Given the description of an element on the screen output the (x, y) to click on. 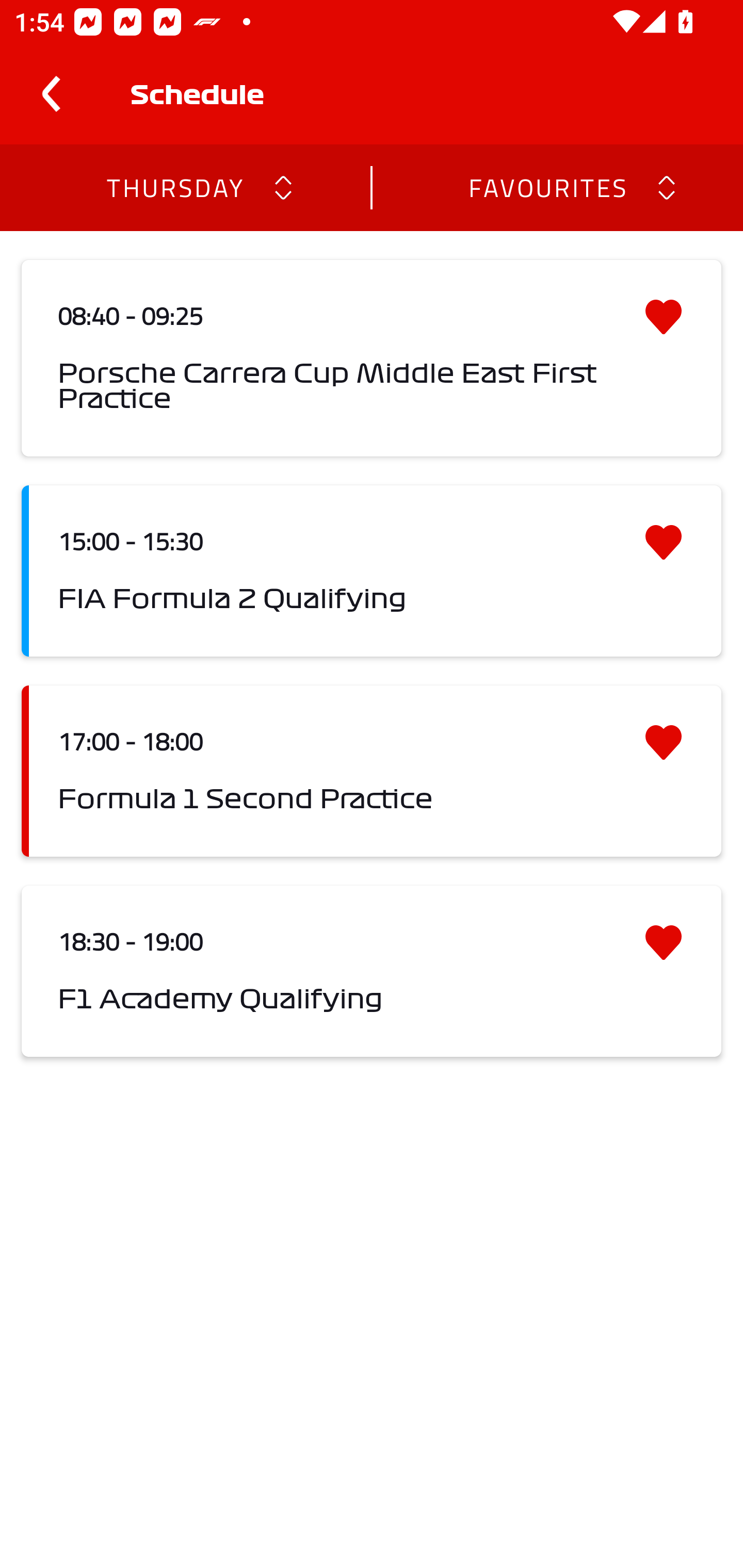
Navigate up (50, 93)
THURSDAY (174, 187)
FAVOURITES (547, 187)
15:00 - 15:30 FIA Formula 2 Qualifying (371, 571)
17:00 - 18:00 Formula 1 Second Practice (371, 770)
18:30 - 19:00 F1 Academy Qualifying (371, 970)
